Given the description of an element on the screen output the (x, y) to click on. 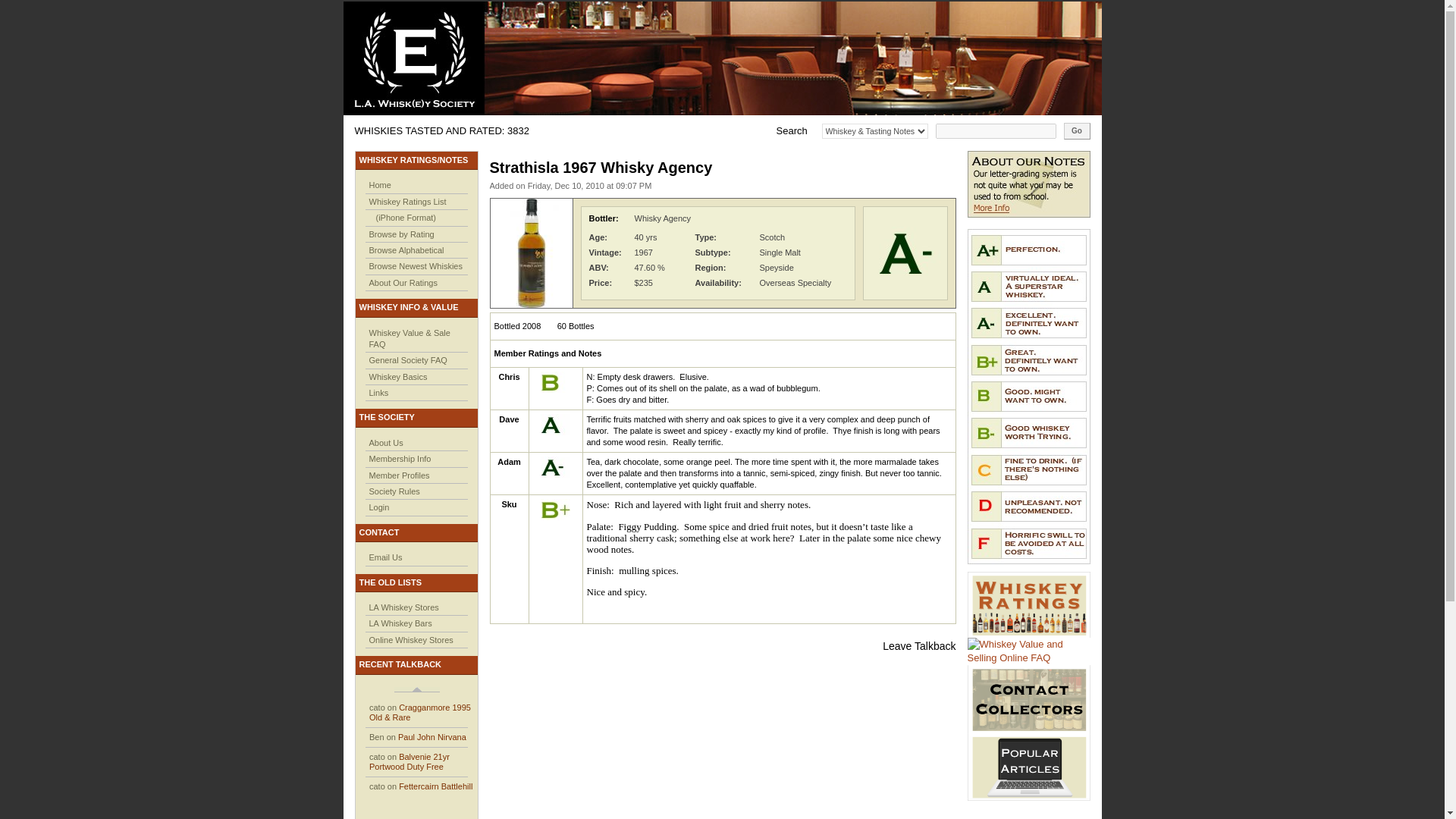
Browse by Rating (400, 234)
Go (1075, 130)
Online Whiskey Stores (410, 639)
LA Whiskey Stores (403, 606)
Login (378, 506)
Leave Talkback (918, 645)
Links (378, 392)
Home (379, 184)
Browse Newest Whiskies (414, 266)
Sku (508, 503)
